Given the description of an element on the screen output the (x, y) to click on. 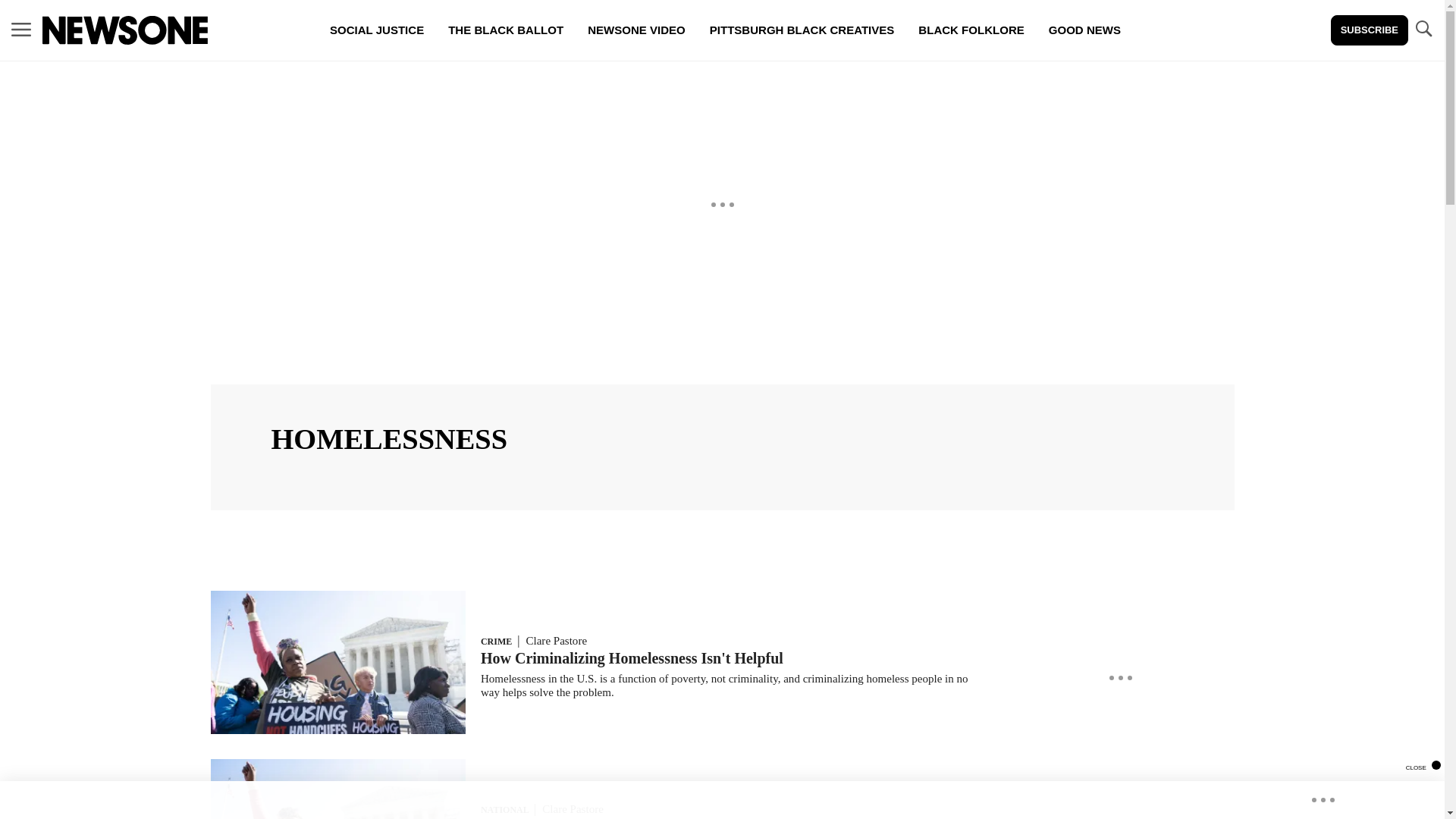
SOCIAL JUSTICE (376, 30)
THE BLACK BALLOT (505, 30)
GOOD NEWS (1084, 30)
NATIONAL (504, 809)
TOGGLE SEARCH (1422, 28)
MENU (20, 29)
How Criminalizing Homelessness Isn't Helpful (631, 658)
BLACK FOLKLORE (970, 30)
PITTSBURGH BLACK CREATIVES (802, 30)
